Given the description of an element on the screen output the (x, y) to click on. 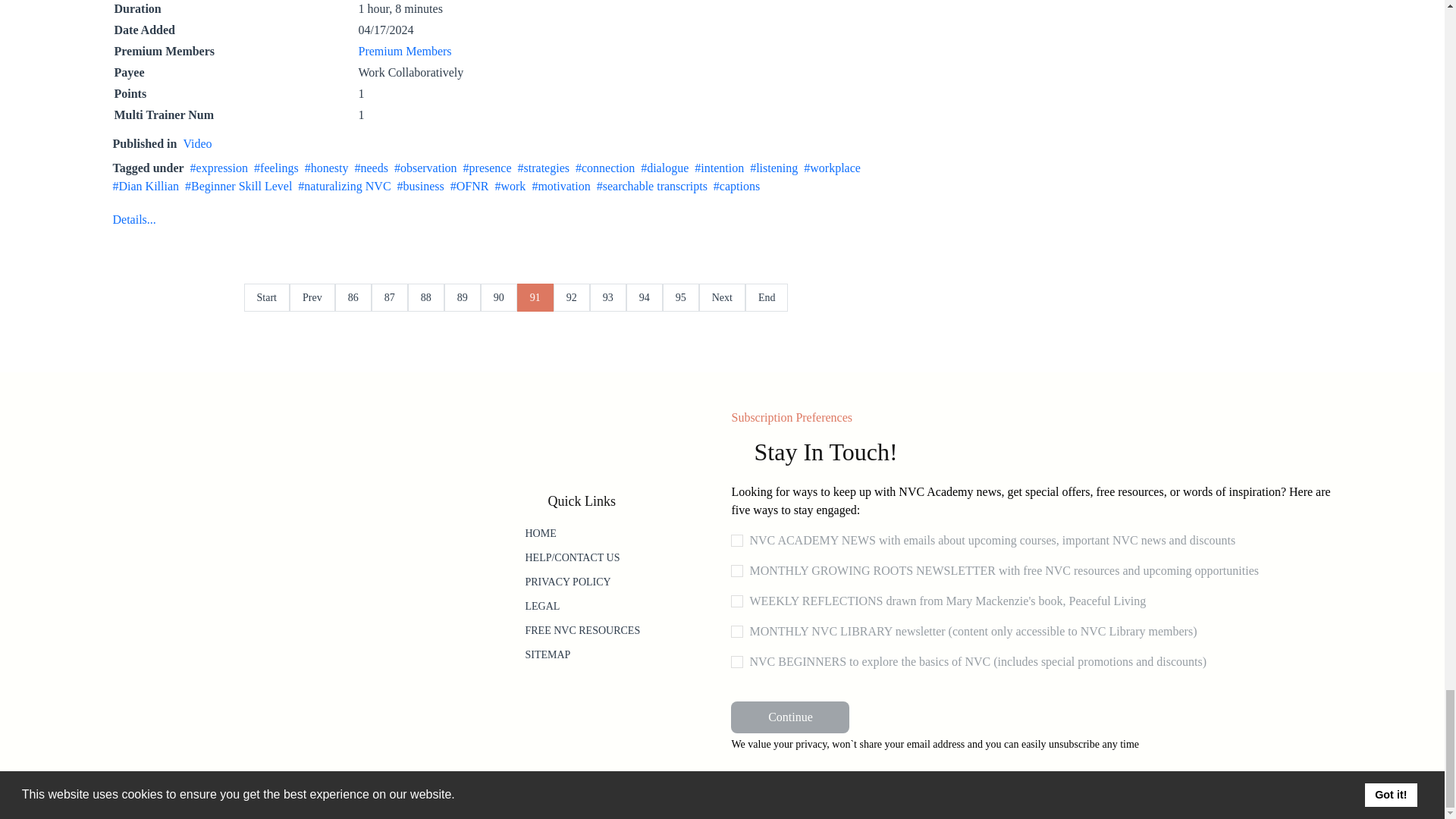
1 (736, 540)
1 (736, 631)
1 (736, 571)
1 (736, 601)
1 (736, 662)
Continue (789, 717)
